Given the description of an element on the screen output the (x, y) to click on. 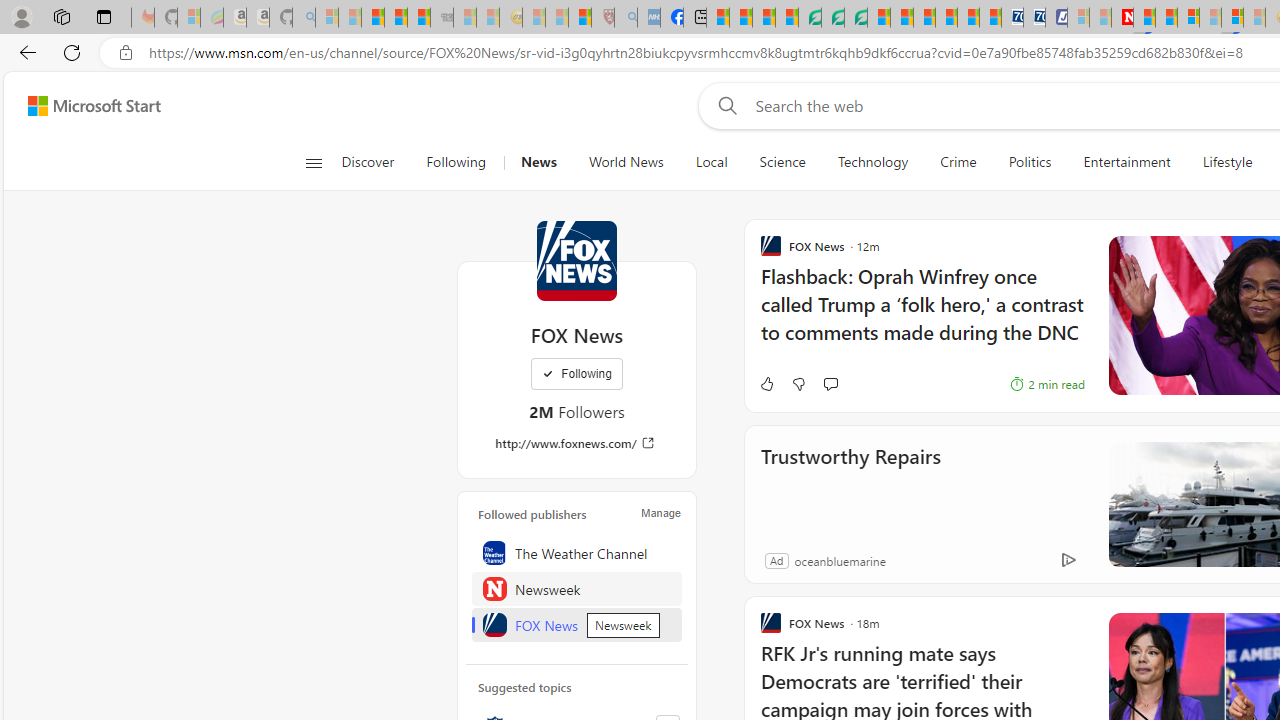
The Weather Channel - MSN (372, 17)
